Given the description of an element on the screen output the (x, y) to click on. 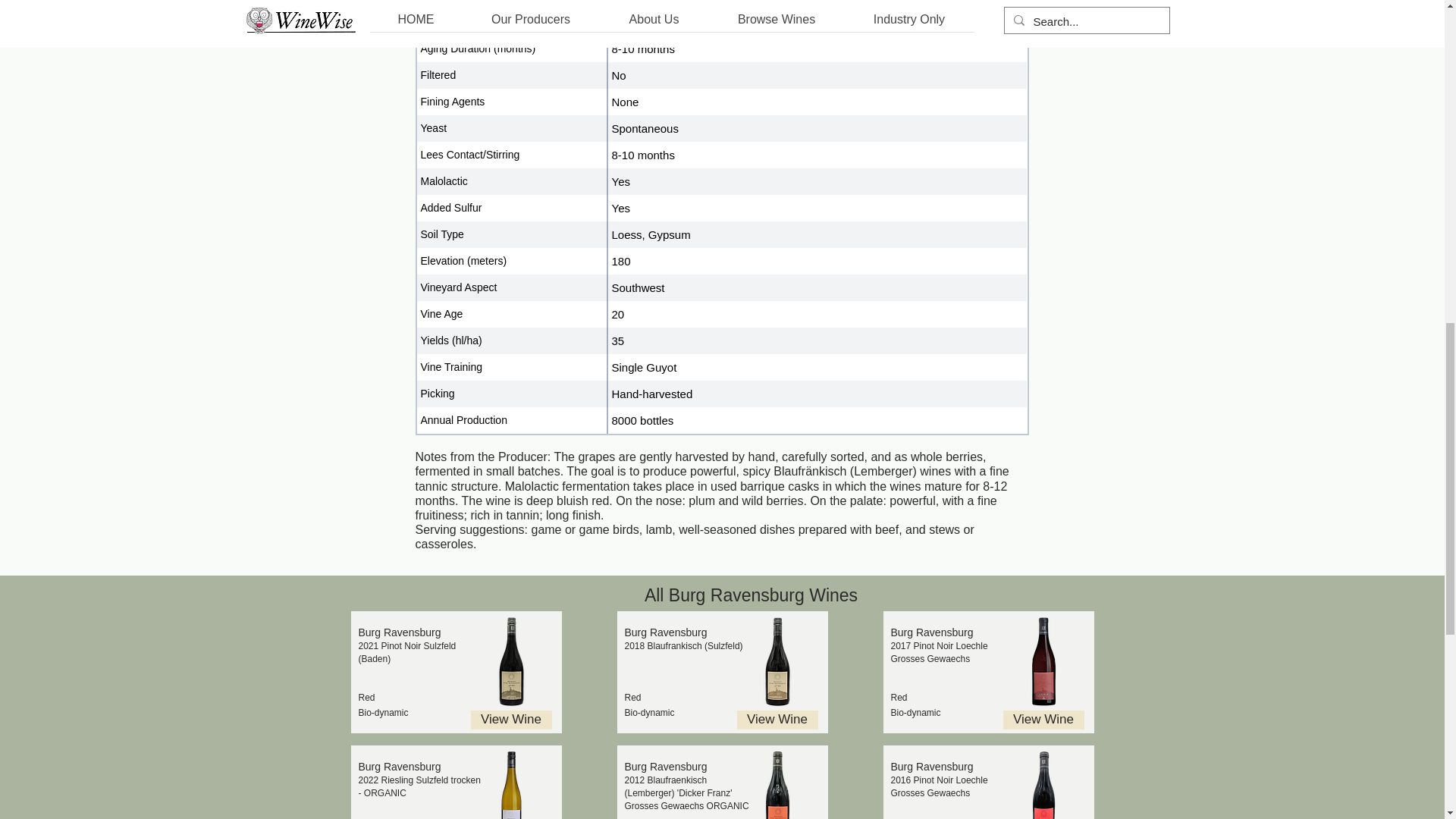
GBR-BFS17.png (777, 661)
View Wine (510, 719)
View Wine (1043, 719)
GBR-PNL16.png (1042, 785)
View Wine (777, 719)
GBR-PNL17.png (1042, 661)
GBR-PN18.png (510, 661)
GBR-BDF12.png (777, 785)
GBR-RIS22.png (510, 785)
